Given the description of an element on the screen output the (x, y) to click on. 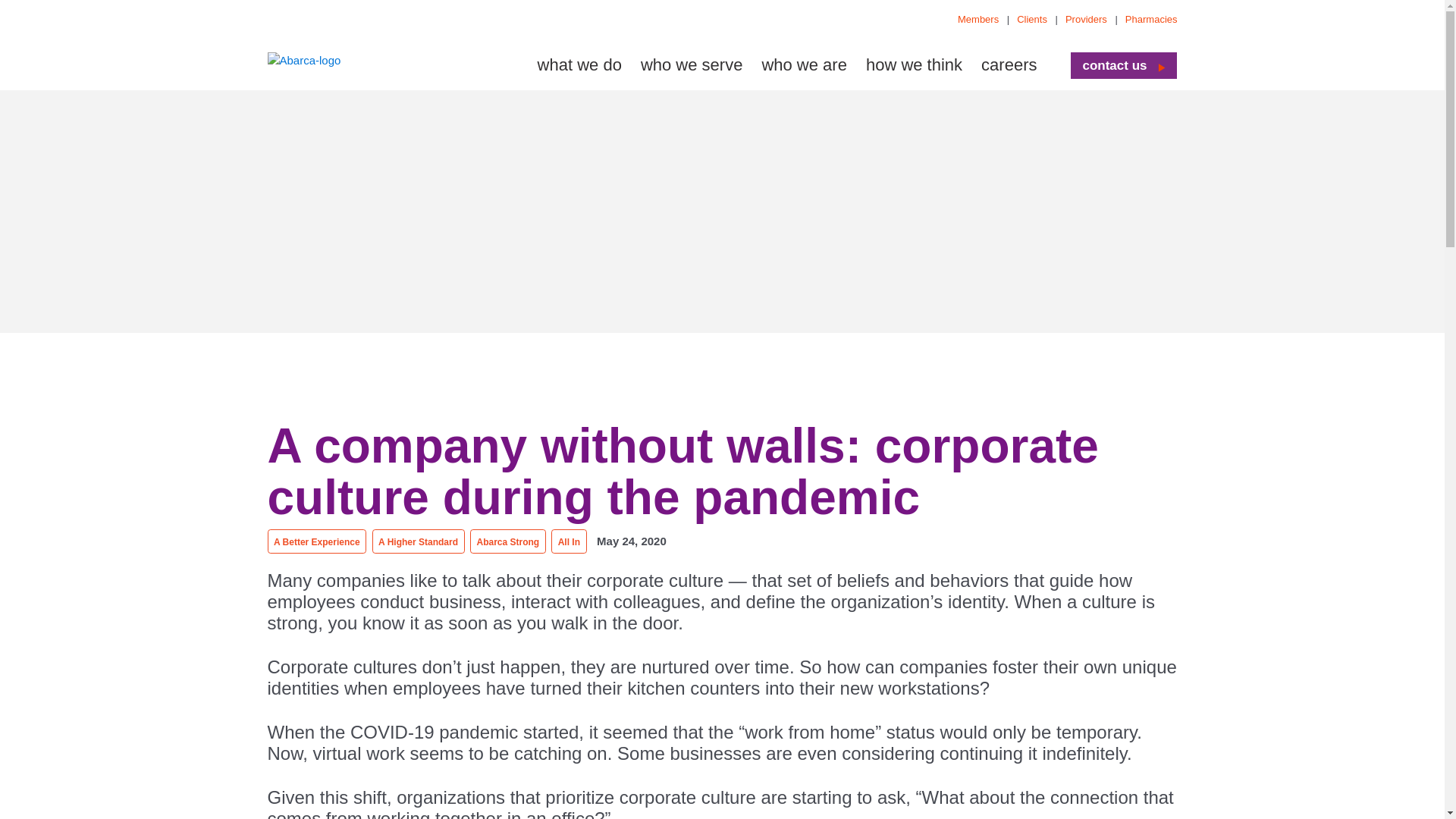
All In (568, 542)
careers (1008, 63)
Members Portal (983, 19)
how we think (914, 63)
Members (983, 19)
Abarca Strong (508, 542)
who we serve (691, 63)
contact us (1114, 64)
who we are (804, 63)
A Higher Standard (418, 542)
